Given the description of an element on the screen output the (x, y) to click on. 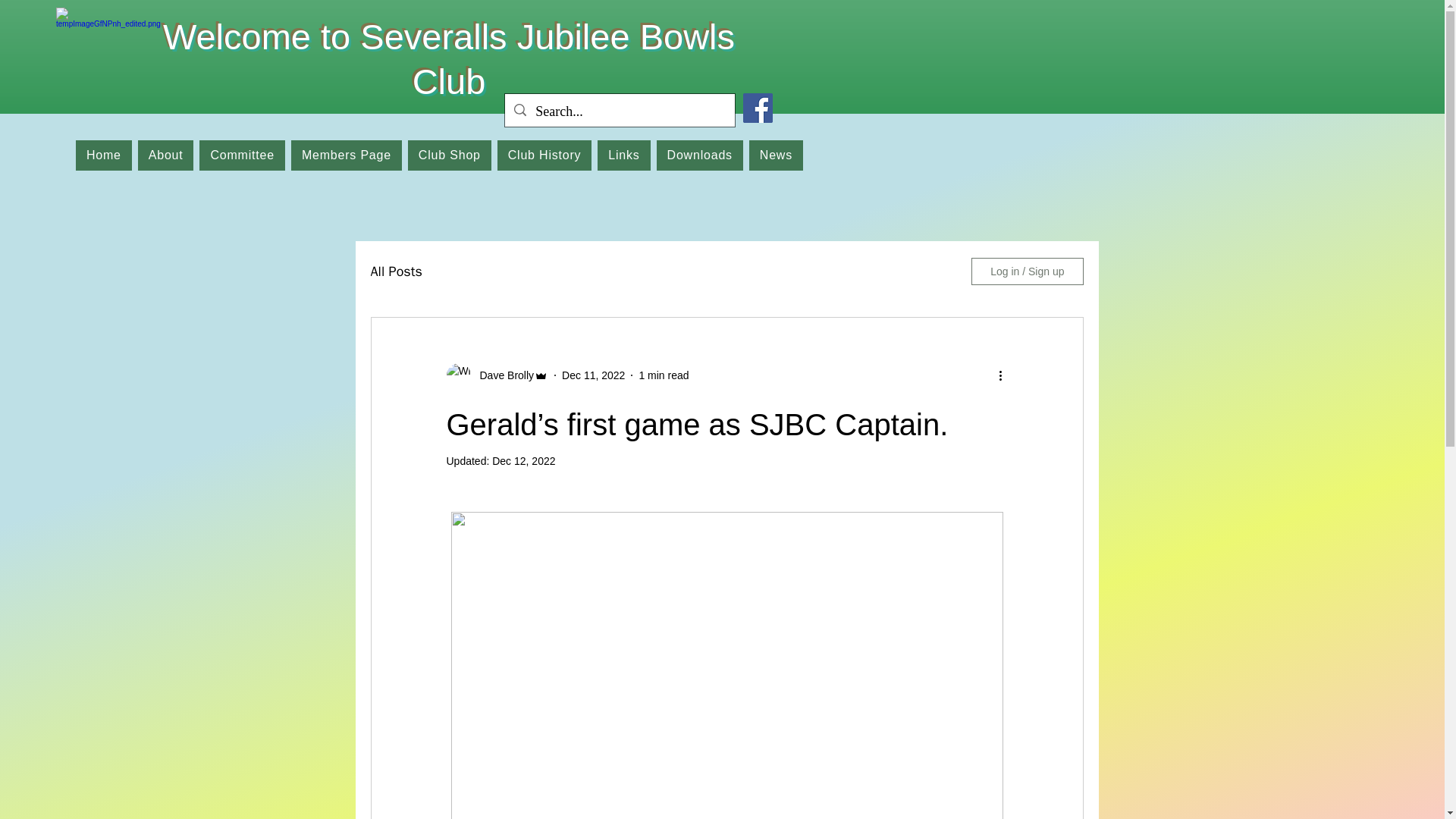
All Posts (395, 271)
Club History (544, 155)
Links (622, 155)
Downloads (699, 155)
1 min read (663, 374)
About (165, 155)
Dec 12, 2022 (523, 460)
News (776, 155)
Dec 11, 2022 (593, 374)
Members Page (346, 155)
